Given the description of an element on the screen output the (x, y) to click on. 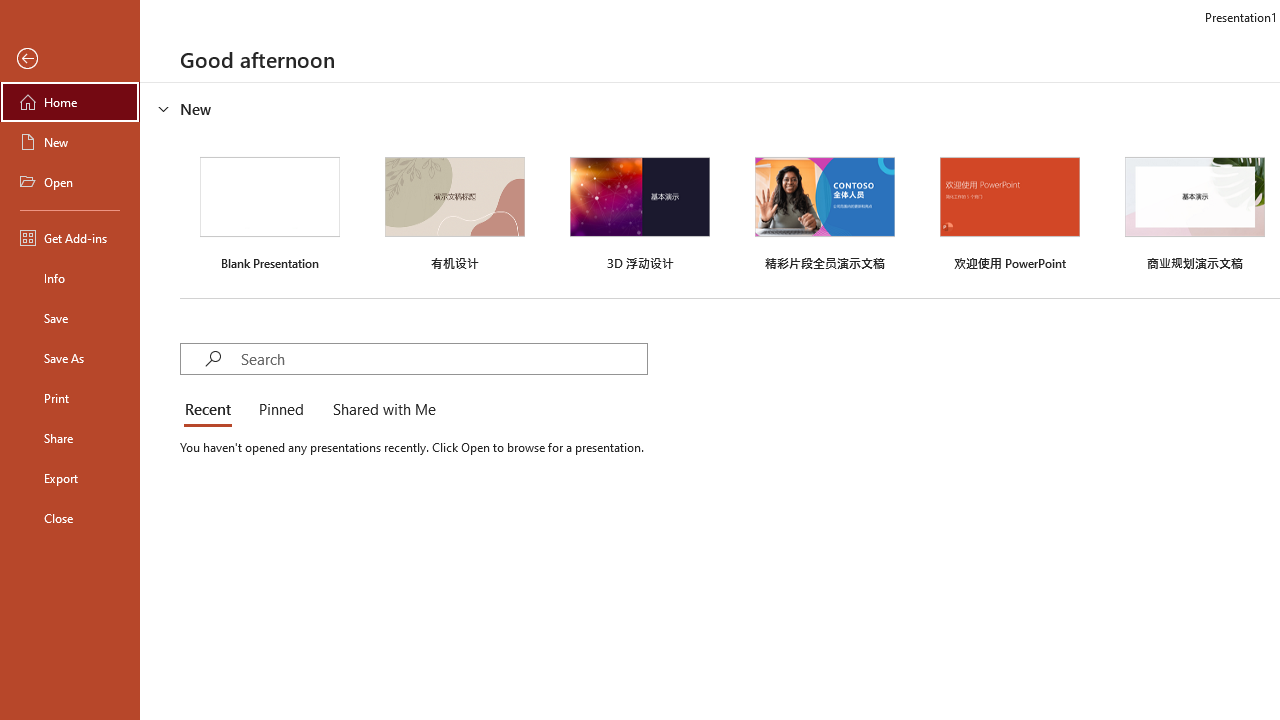
Info (69, 277)
Hide or show region (164, 108)
Get Add-ins (69, 237)
Blank Presentation (269, 211)
Back (69, 59)
Export (69, 477)
